Given the description of an element on the screen output the (x, y) to click on. 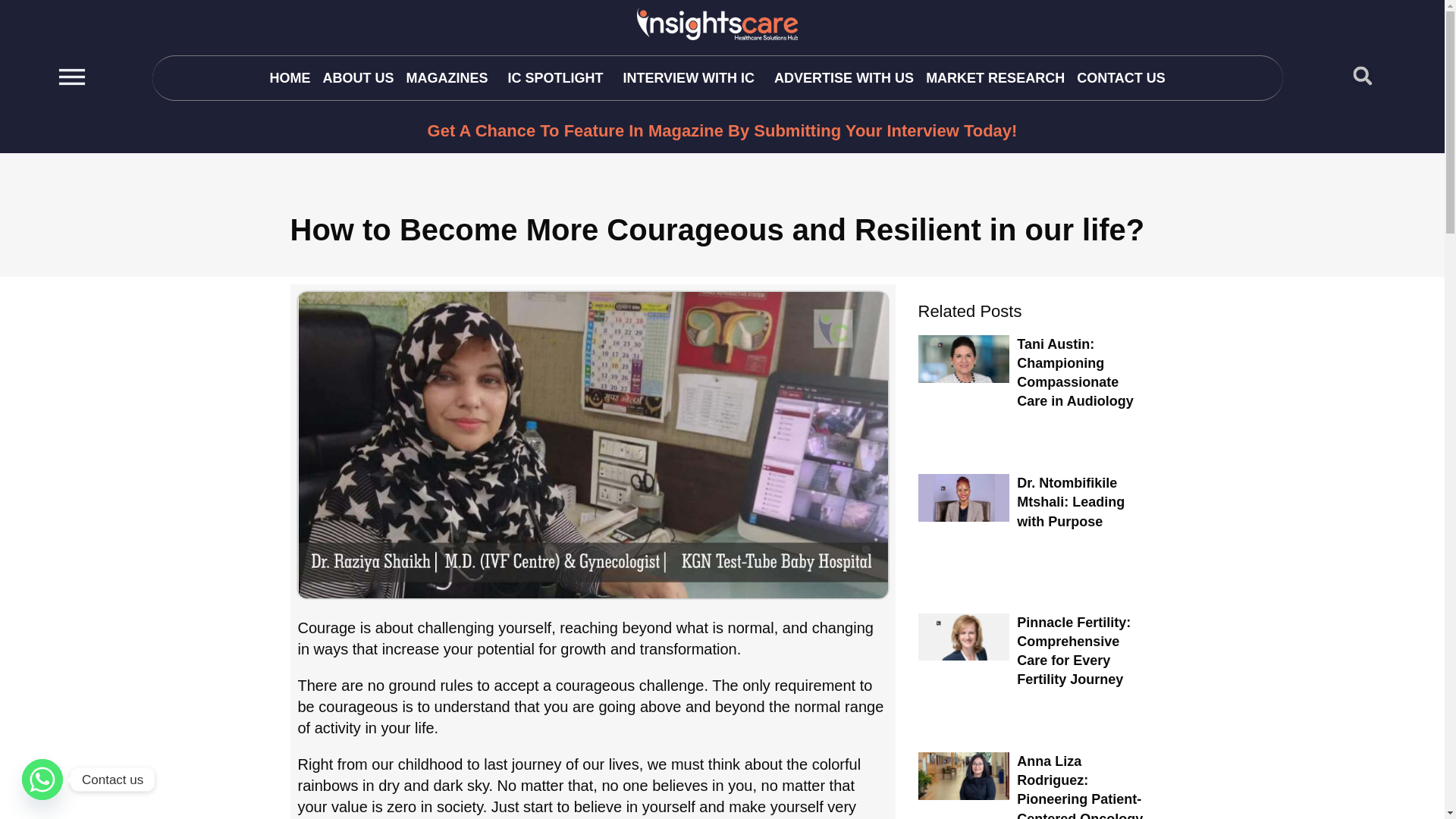
MAGAZINES (449, 77)
ABOUT US (356, 77)
HOME (289, 77)
